Given the description of an element on the screen output the (x, y) to click on. 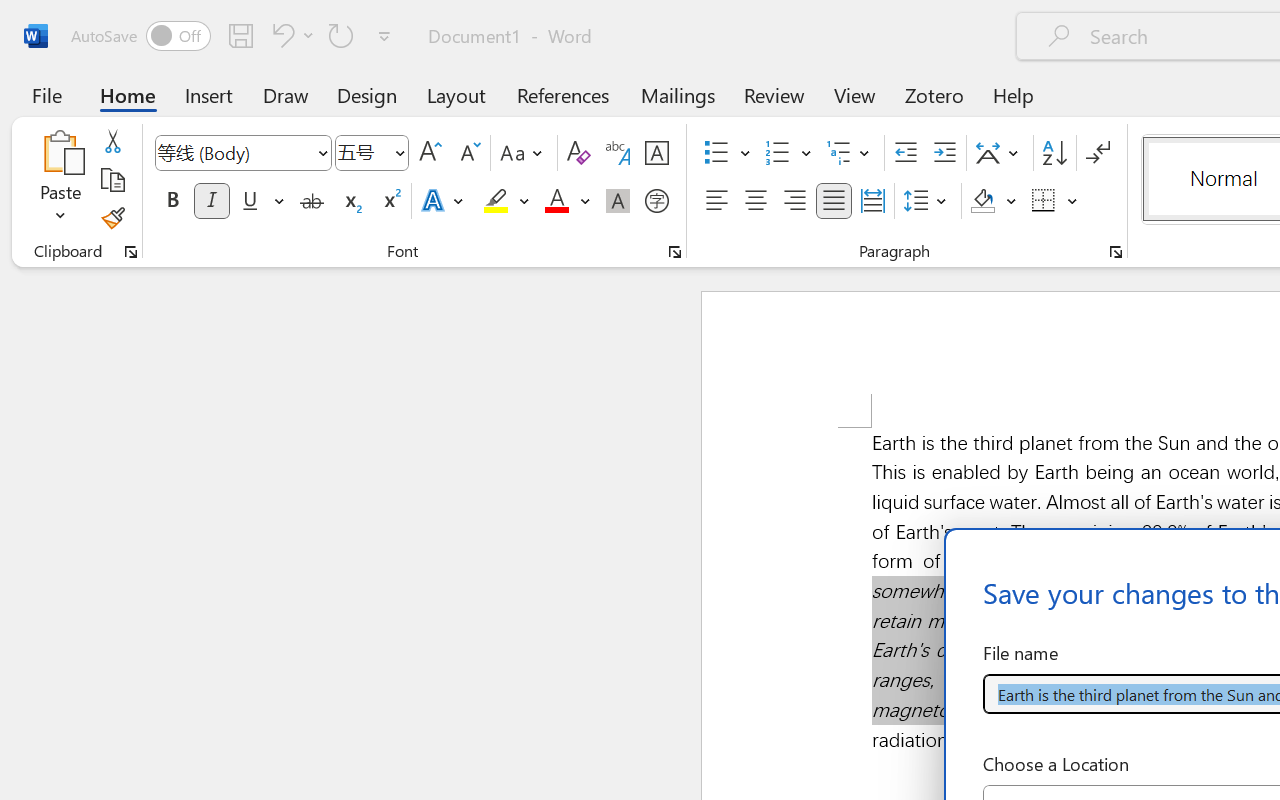
Font... (675, 252)
Decrease Indent (906, 153)
Shrink Font (468, 153)
Align Right (794, 201)
Text Effects and Typography (444, 201)
Font Color Red (556, 201)
Character Border (656, 153)
Phonetic Guide... (618, 153)
Multilevel List (850, 153)
Undo Italic (290, 35)
